Given the description of an element on the screen output the (x, y) to click on. 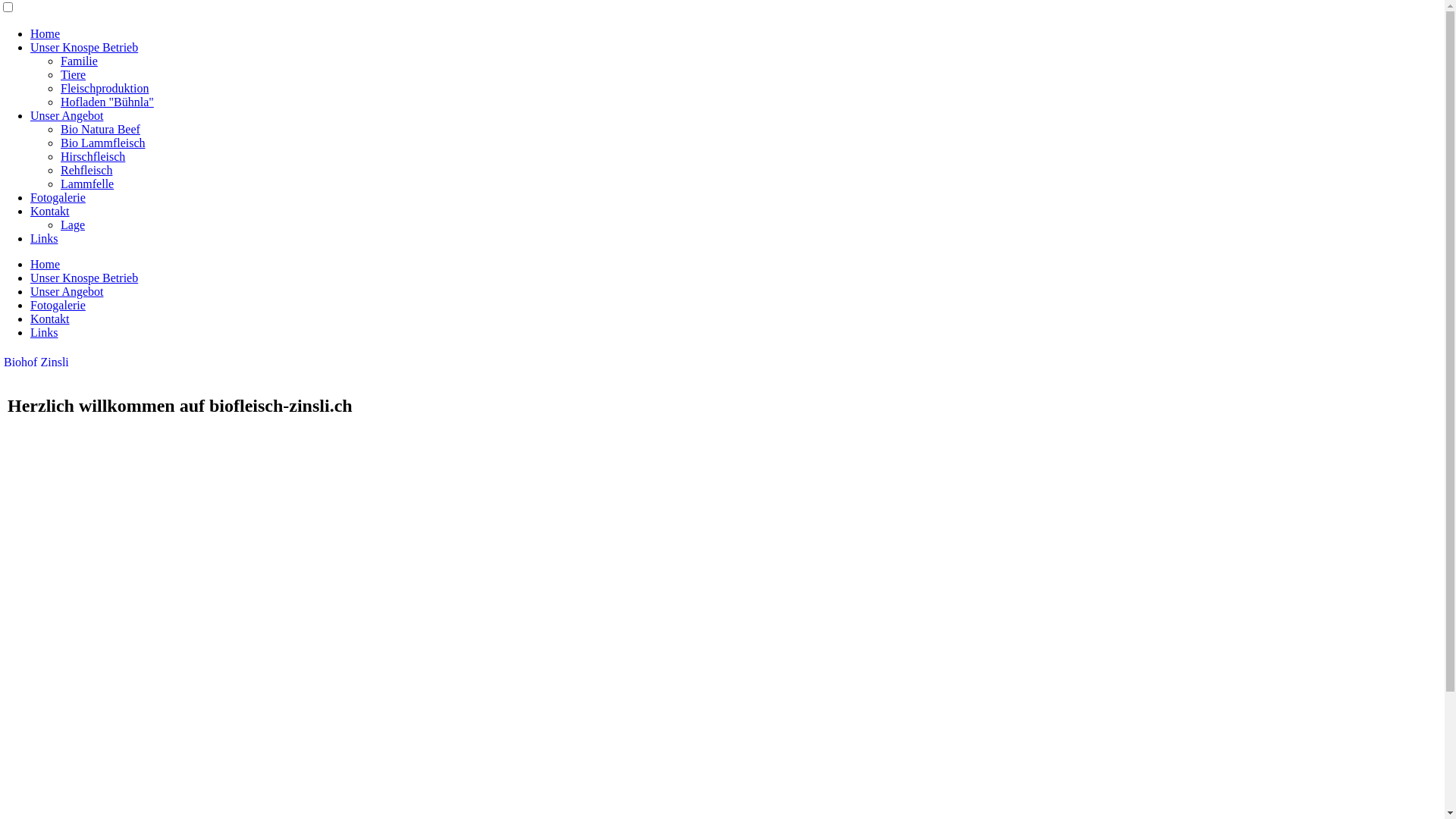
Rehfleisch Element type: text (86, 169)
Home Element type: text (44, 263)
Tiere Element type: text (72, 74)
Fleischproduktion Element type: text (104, 87)
Links Element type: text (43, 332)
Lammfelle Element type: text (86, 183)
Fotogalerie Element type: text (57, 197)
Bio Natura Beef Element type: text (100, 128)
Unser Knospe Betrieb Element type: text (84, 46)
Fotogalerie Element type: text (57, 304)
Biohof Zinsli Element type: text (36, 361)
Familie Element type: text (78, 60)
Unser Knospe Betrieb Element type: text (84, 277)
Bio Lammfleisch Element type: text (102, 142)
Kontakt Element type: text (49, 318)
Lage Element type: text (72, 224)
Home Element type: text (44, 33)
Hirschfleisch Element type: text (92, 156)
Kontakt Element type: text (49, 210)
Unser Angebot Element type: text (66, 291)
Links Element type: text (43, 238)
Unser Angebot Element type: text (66, 115)
